Given the description of an element on the screen output the (x, y) to click on. 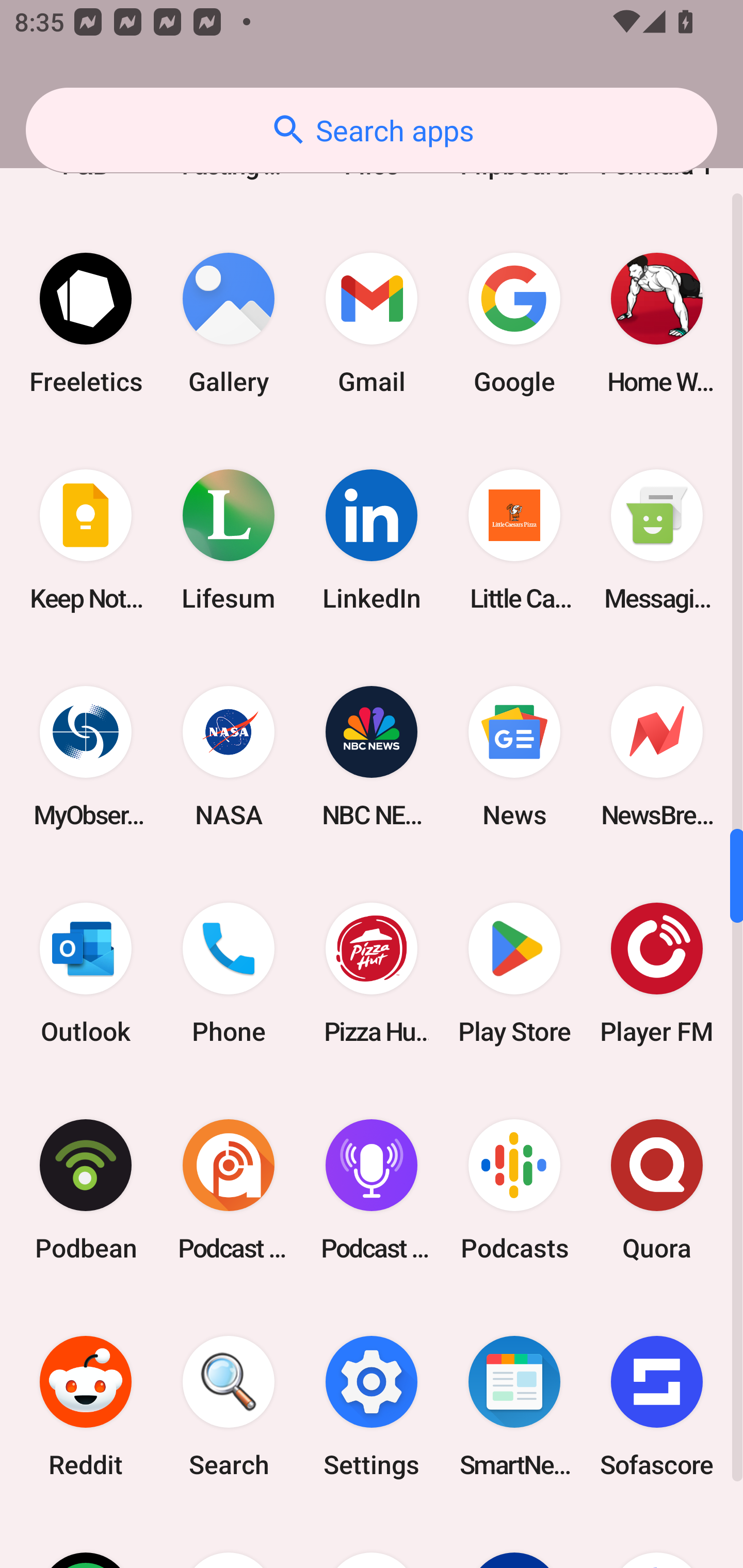
  Search apps (371, 130)
Freeletics (85, 322)
Gallery (228, 322)
Gmail (371, 322)
Google (514, 322)
Home Workout (656, 322)
Keep Notes (85, 539)
Lifesum (228, 539)
LinkedIn (371, 539)
Little Caesars Pizza (514, 539)
Messaging (656, 539)
MyObservatory (85, 756)
NASA (228, 756)
NBC NEWS (371, 756)
News (514, 756)
NewsBreak (656, 756)
Outlook (85, 973)
Phone (228, 973)
Pizza Hut HK & Macau (371, 973)
Play Store (514, 973)
Player FM (656, 973)
Podbean (85, 1189)
Podcast Addict (228, 1189)
Podcast Player (371, 1189)
Podcasts (514, 1189)
Quora (656, 1189)
Reddit (85, 1406)
Search (228, 1406)
Settings (371, 1406)
SmartNews (514, 1406)
Sofascore (656, 1406)
